Given the description of an element on the screen output the (x, y) to click on. 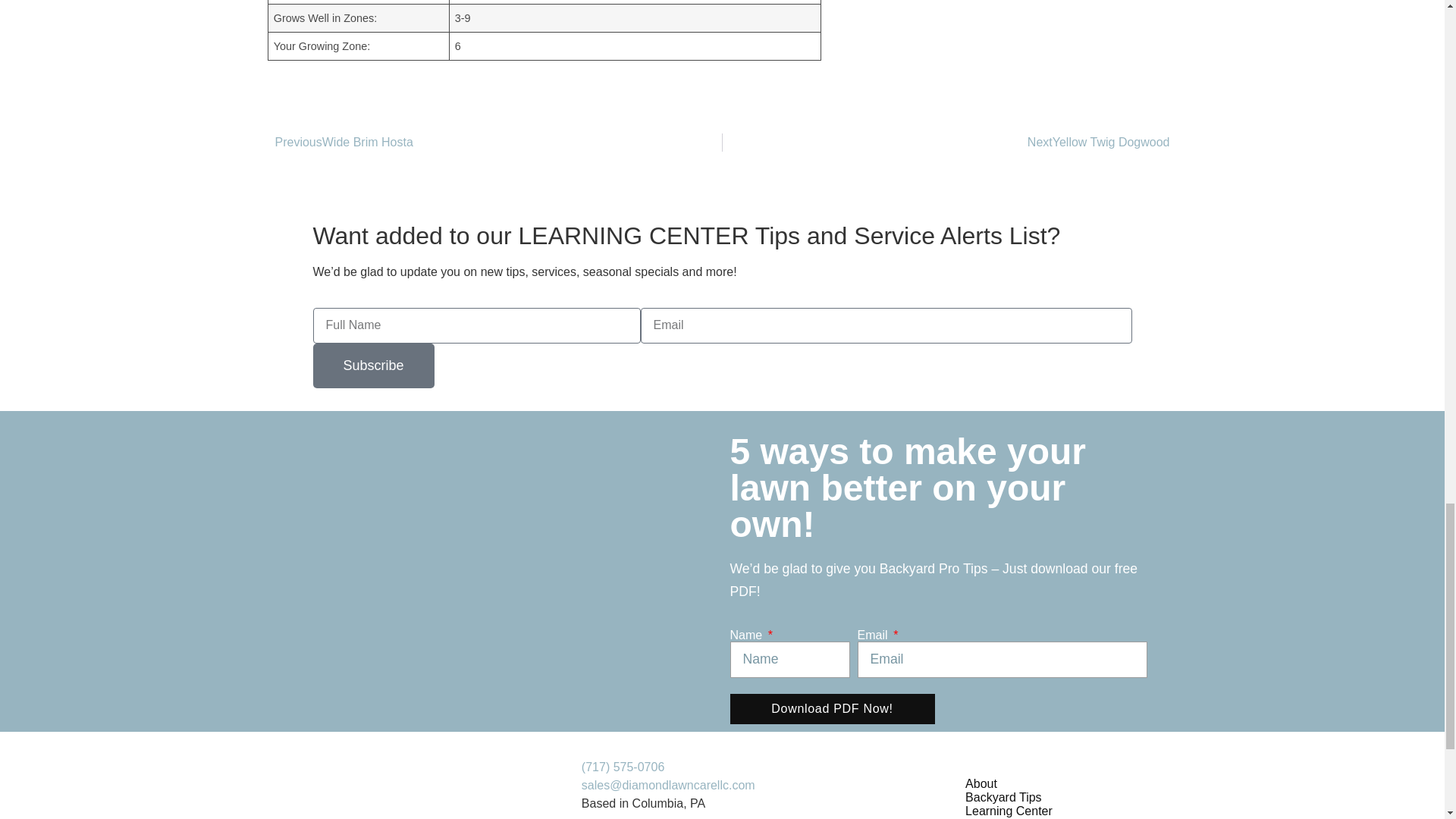
Learning Center (1198, 811)
PreviousWide Brim Hosta (343, 141)
Download PDF Now! (831, 708)
NextYellow Twig Dogwood (1098, 141)
Subscribe (373, 365)
About (1198, 784)
Backyard Tips (1198, 797)
